Given the description of an element on the screen output the (x, y) to click on. 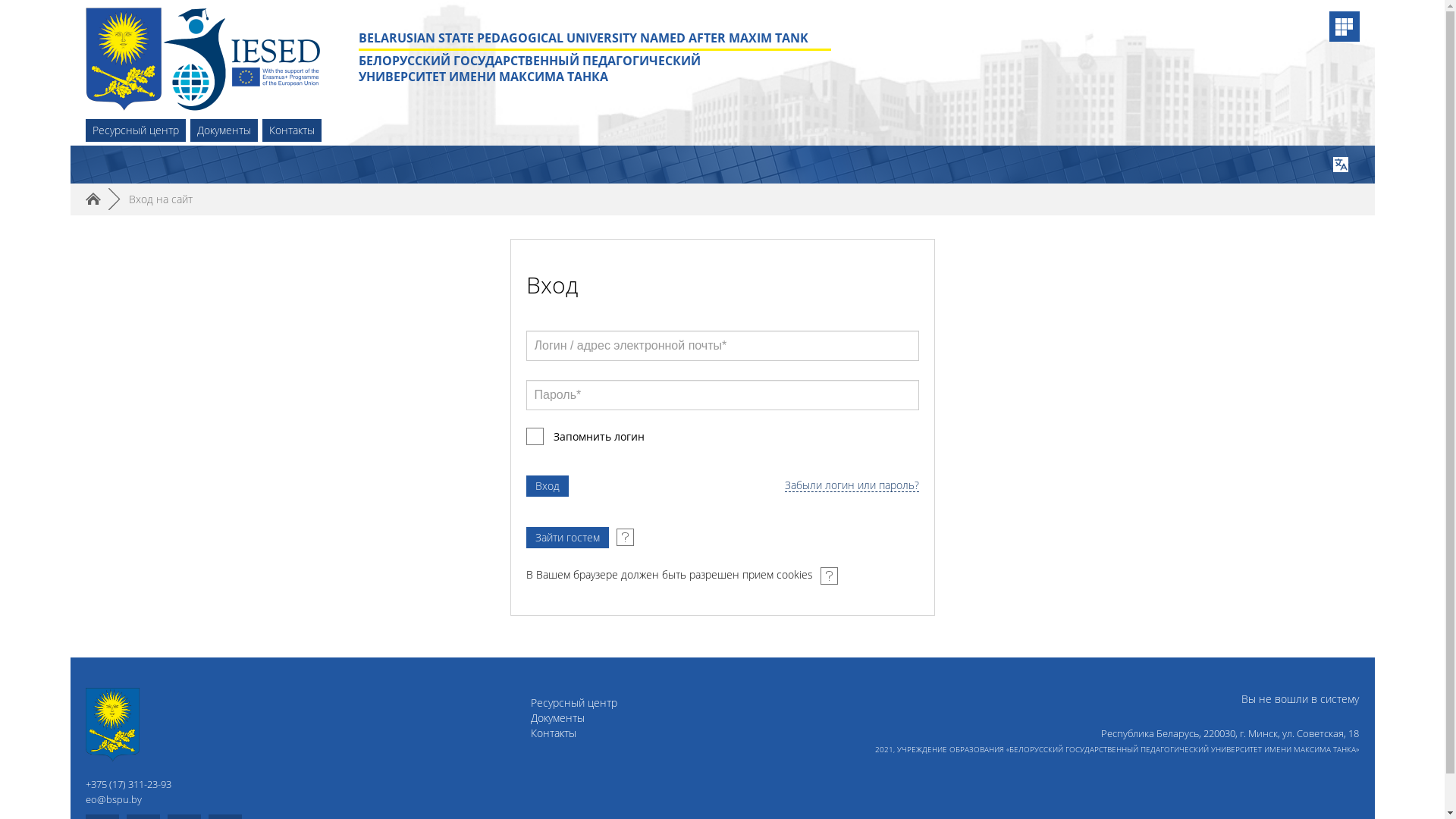
eo@bspu.by Element type: text (112, 798)
